Given the description of an element on the screen output the (x, y) to click on. 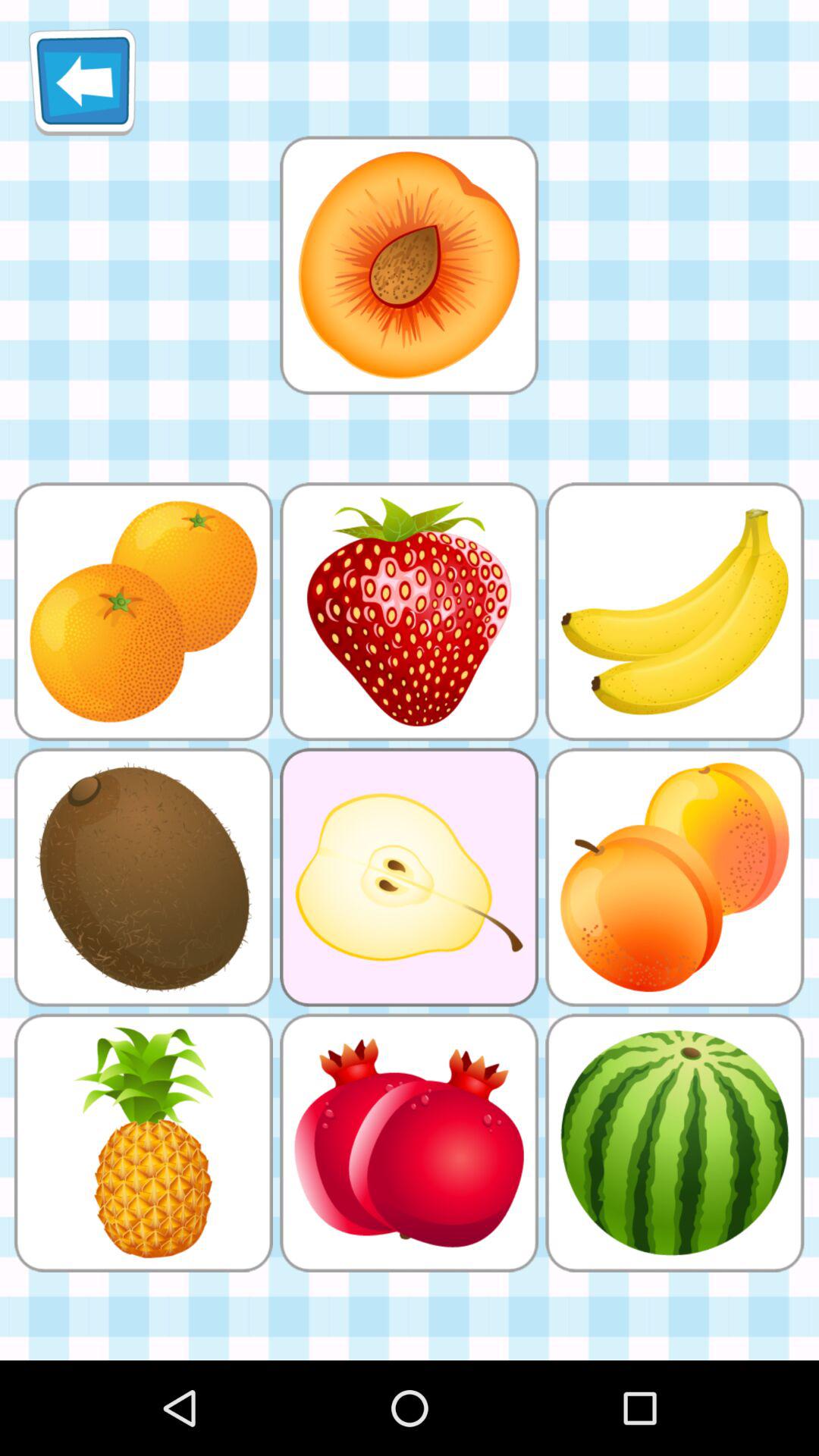
open it (409, 265)
